Given the description of an element on the screen output the (x, y) to click on. 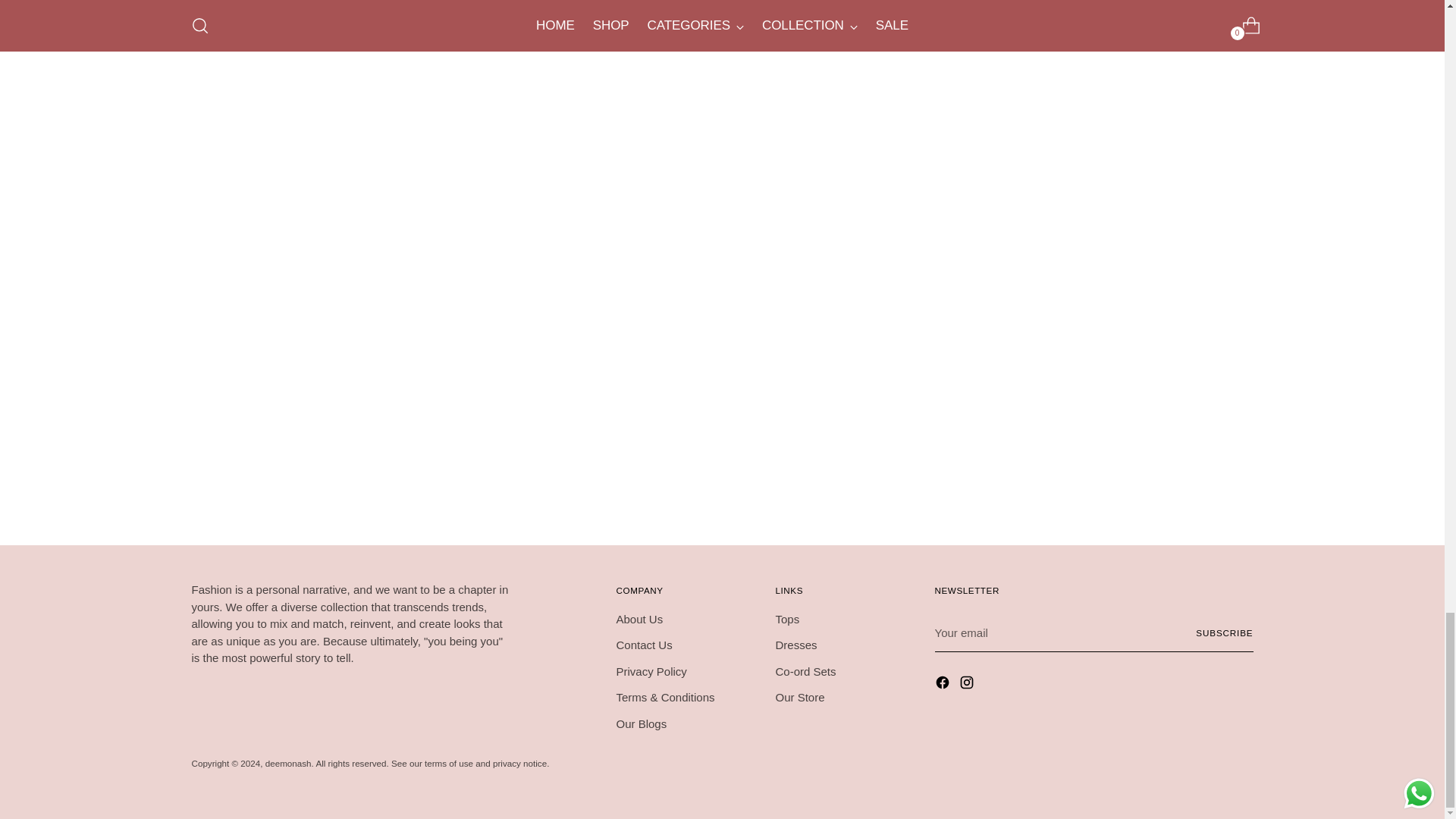
deemonash on Facebook (943, 684)
deemonash on Instagram (967, 684)
